Given the description of an element on the screen output the (x, y) to click on. 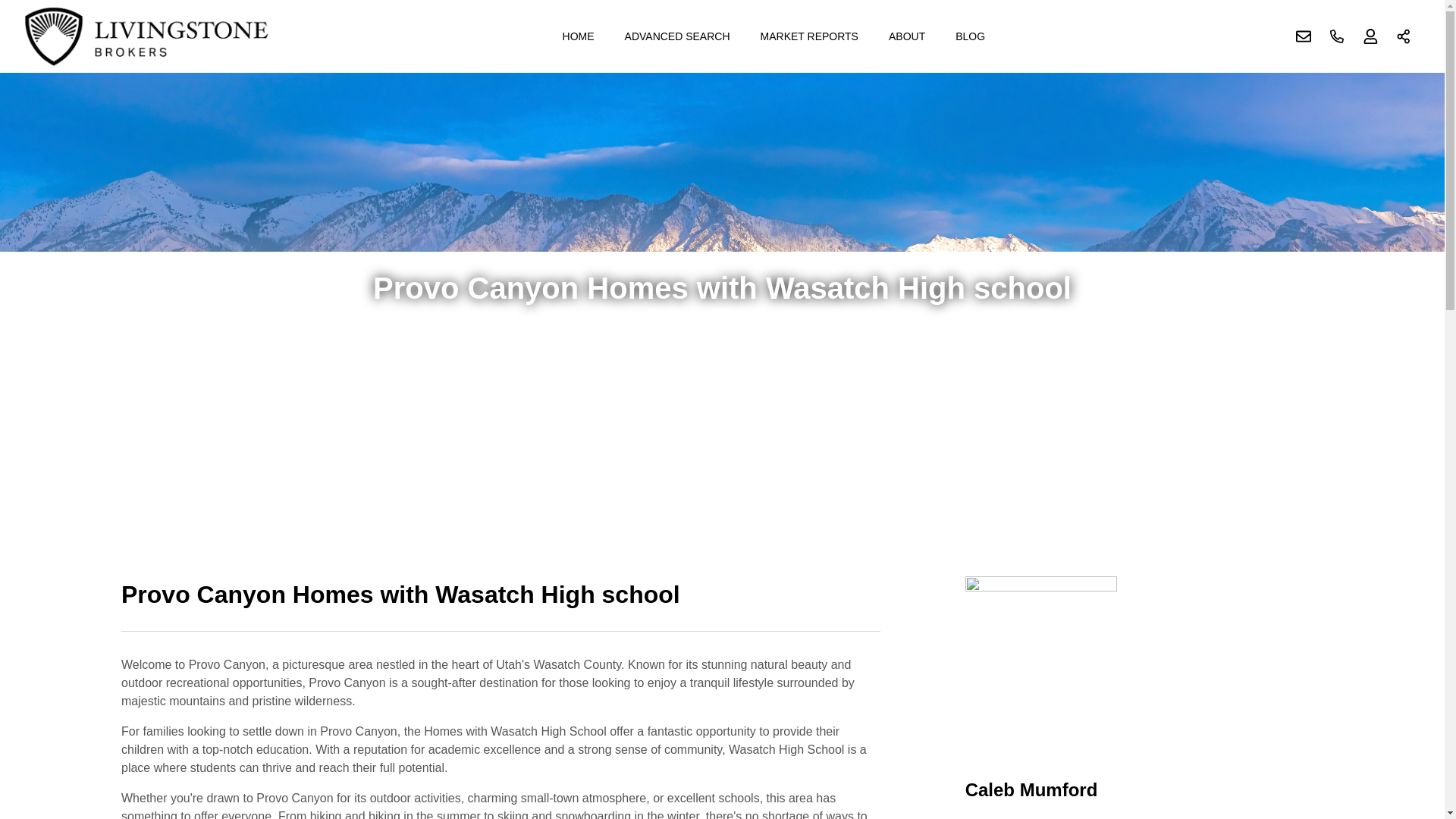
Provo Canyon Homes with Wasatch High school (500, 603)
Share (1404, 36)
Sign up or Sign in (1370, 36)
Contact us (1303, 36)
MARKET REPORTS (809, 36)
Livingutah.com (146, 35)
ADVANCED SEARCH (677, 36)
Phone number (1337, 36)
